Given the description of an element on the screen output the (x, y) to click on. 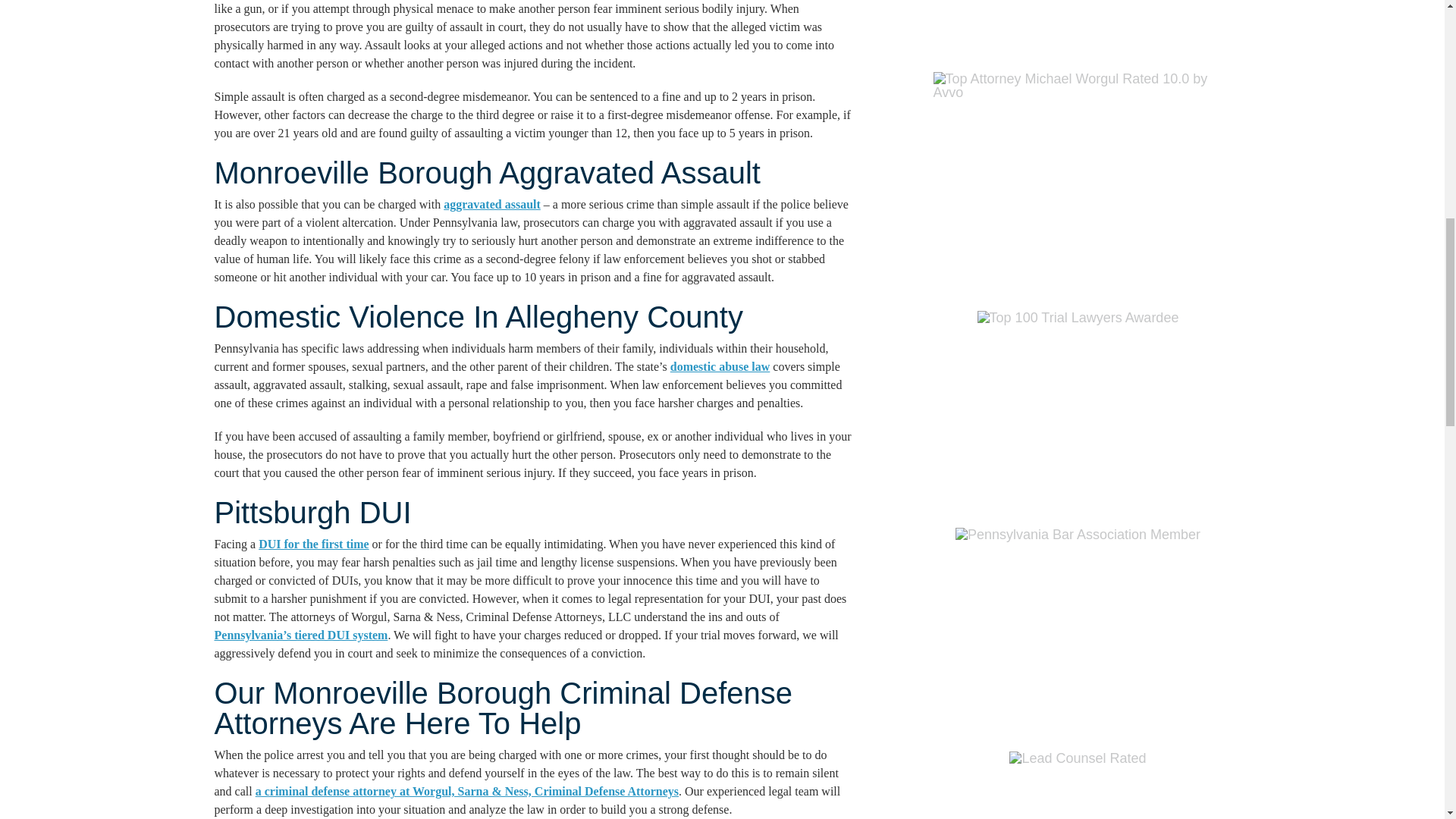
Pennsylvania DUI Laws (300, 634)
First DUI in Pittsburgh (313, 543)
Our Attorneys (467, 790)
Aggravated Assault (492, 204)
Domestic Violence (719, 366)
